Given the description of an element on the screen output the (x, y) to click on. 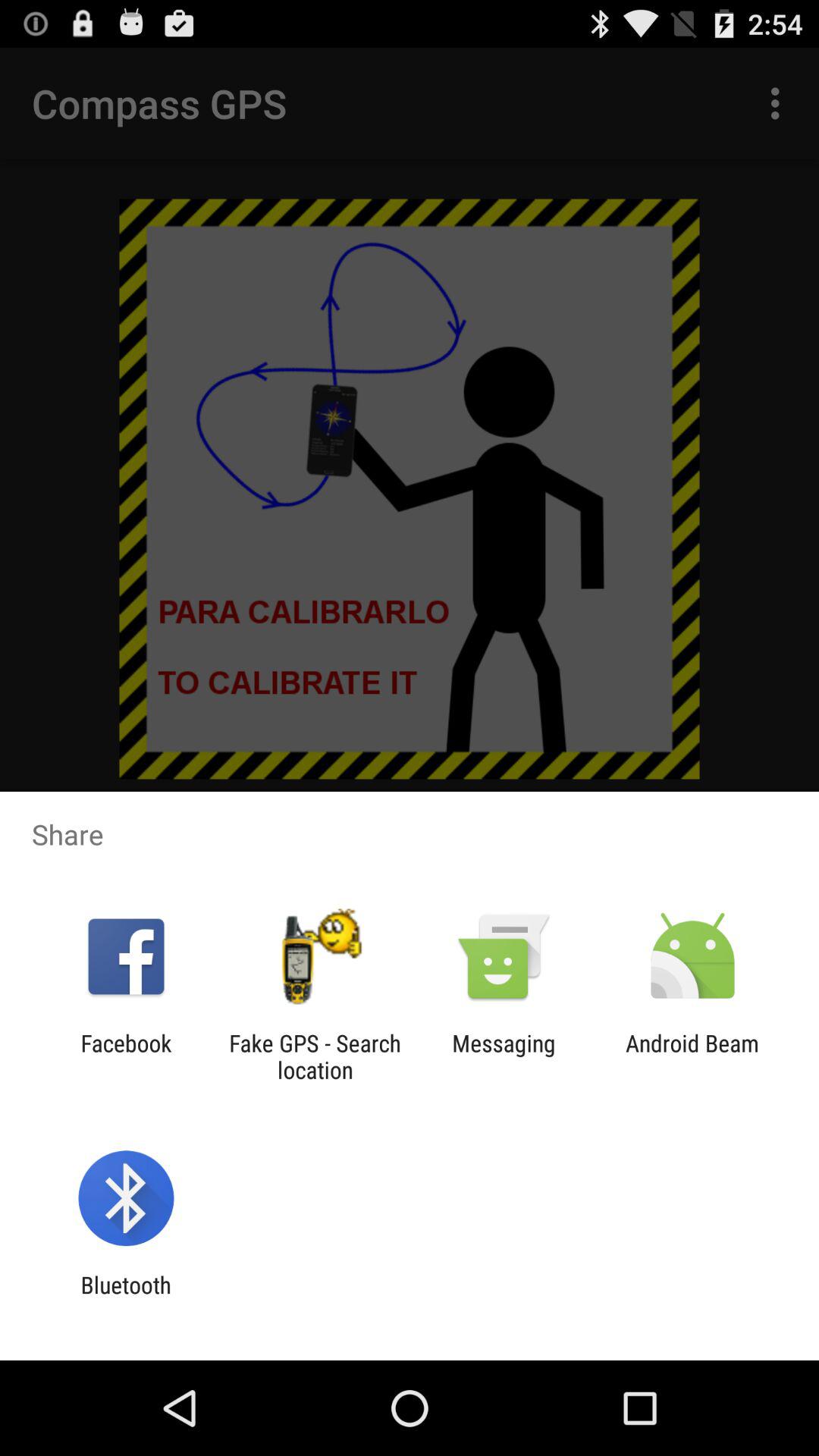
select item next to the facebook app (314, 1056)
